Given the description of an element on the screen output the (x, y) to click on. 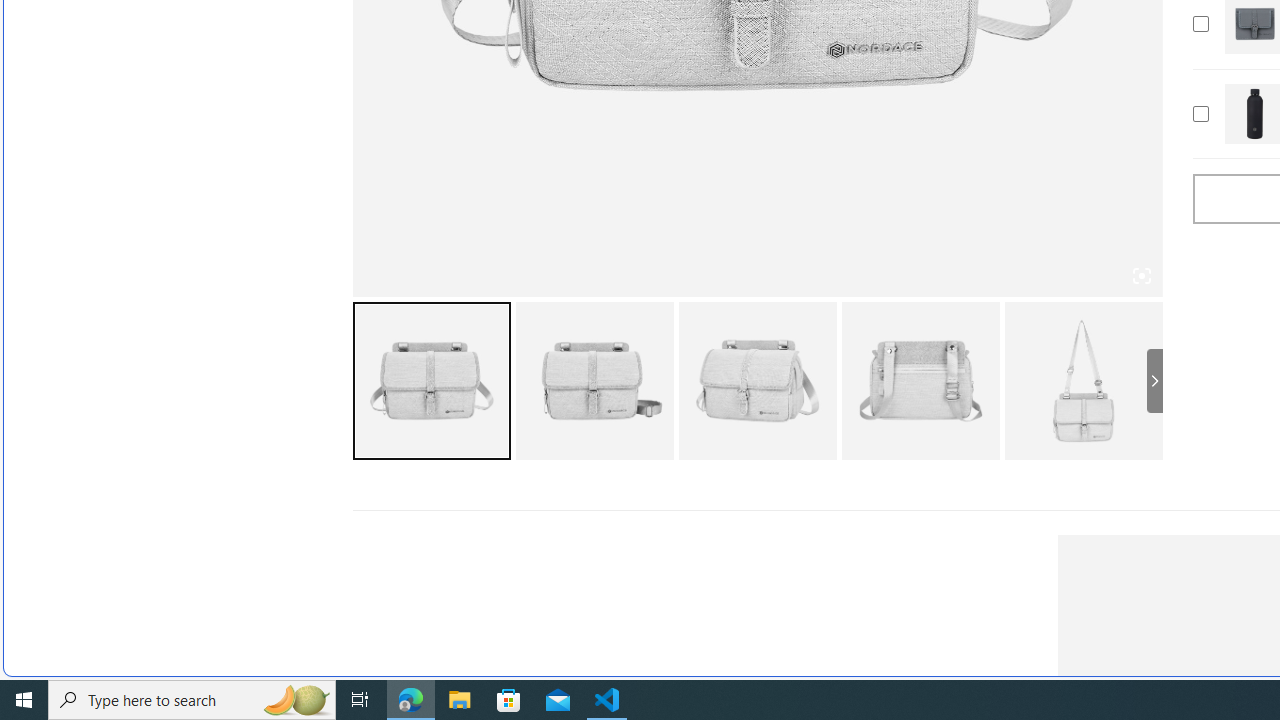
Class: iconic-woothumbs-fullscreen (1140, 276)
Add this product to cart (1200, 114)
